Given the description of an element on the screen output the (x, y) to click on. 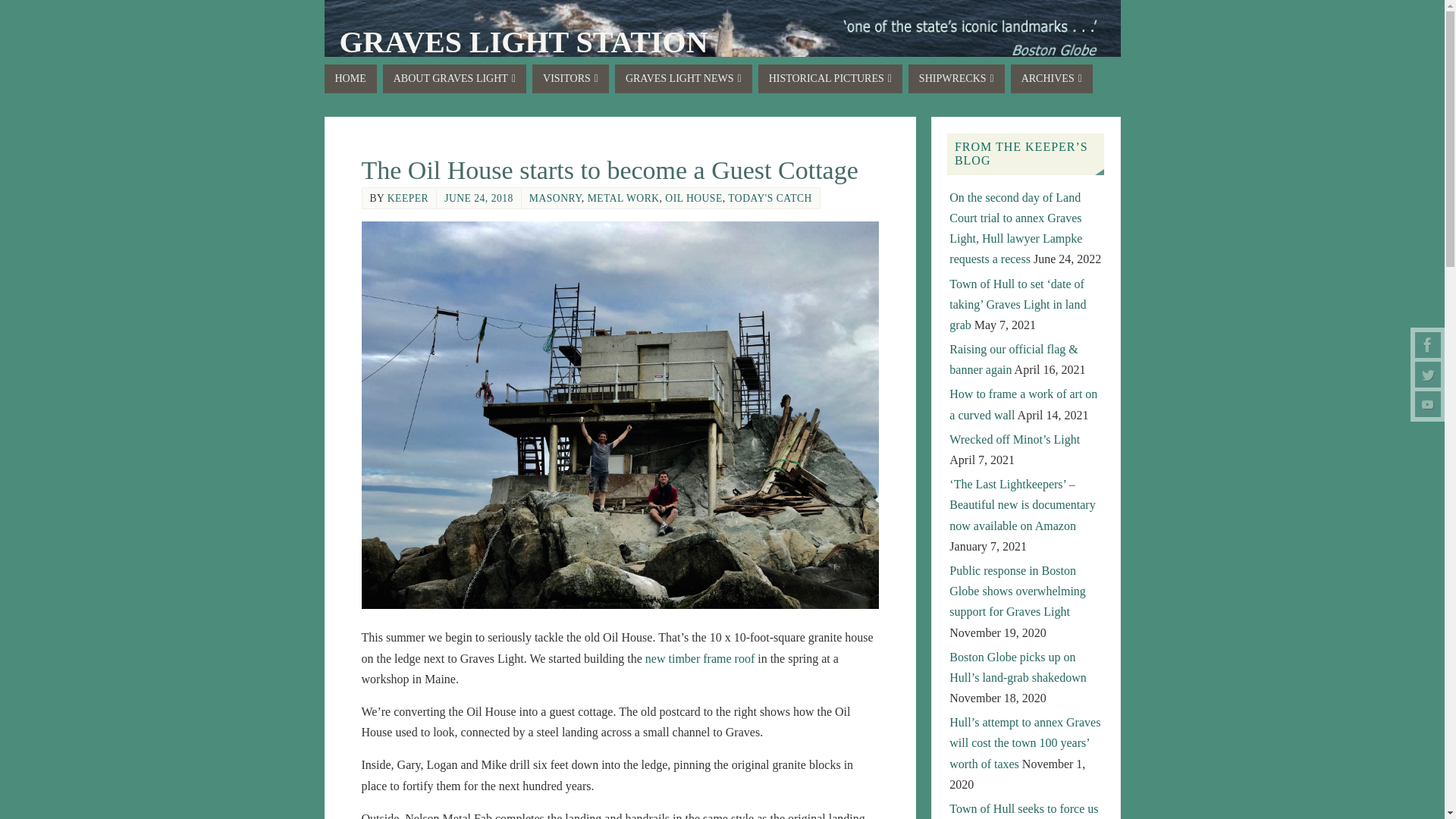
Graves  Light  Station (523, 42)
View all posts by Keeper (407, 197)
Graves Light YouTube channel (1428, 403)
HOME (350, 78)
GRAVES LIGHT STATION (523, 42)
ABOUT GRAVES LIGHT (453, 78)
Graves Light Twitter page (1428, 374)
Graves Light Facebook page (1428, 344)
Graves  Light  Station (722, 45)
VISITORS (570, 78)
GRAVES LIGHT NEWS (683, 78)
